Given the description of an element on the screen output the (x, y) to click on. 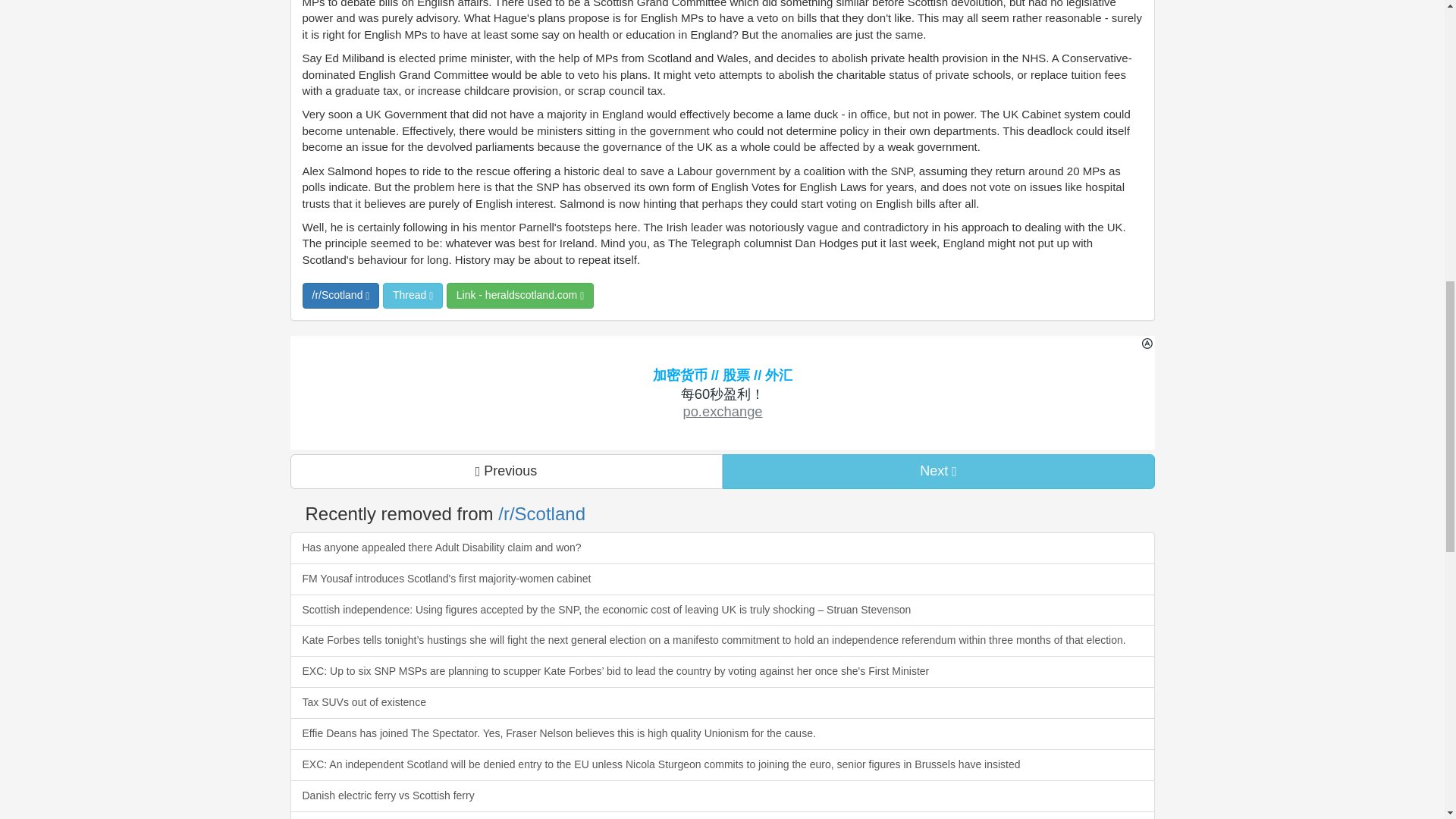
FM Yousaf introduces Scotland's first majority-women cabinet (721, 579)
Tax SUVs out of existence (721, 703)
Link - heraldscotland.com (520, 295)
Next (938, 471)
Danish electric ferry vs Scottish ferry (721, 796)
Previous (505, 471)
Thread (412, 295)
Has anyone appealed there Adult Disability claim and won? (721, 548)
